Given the description of an element on the screen output the (x, y) to click on. 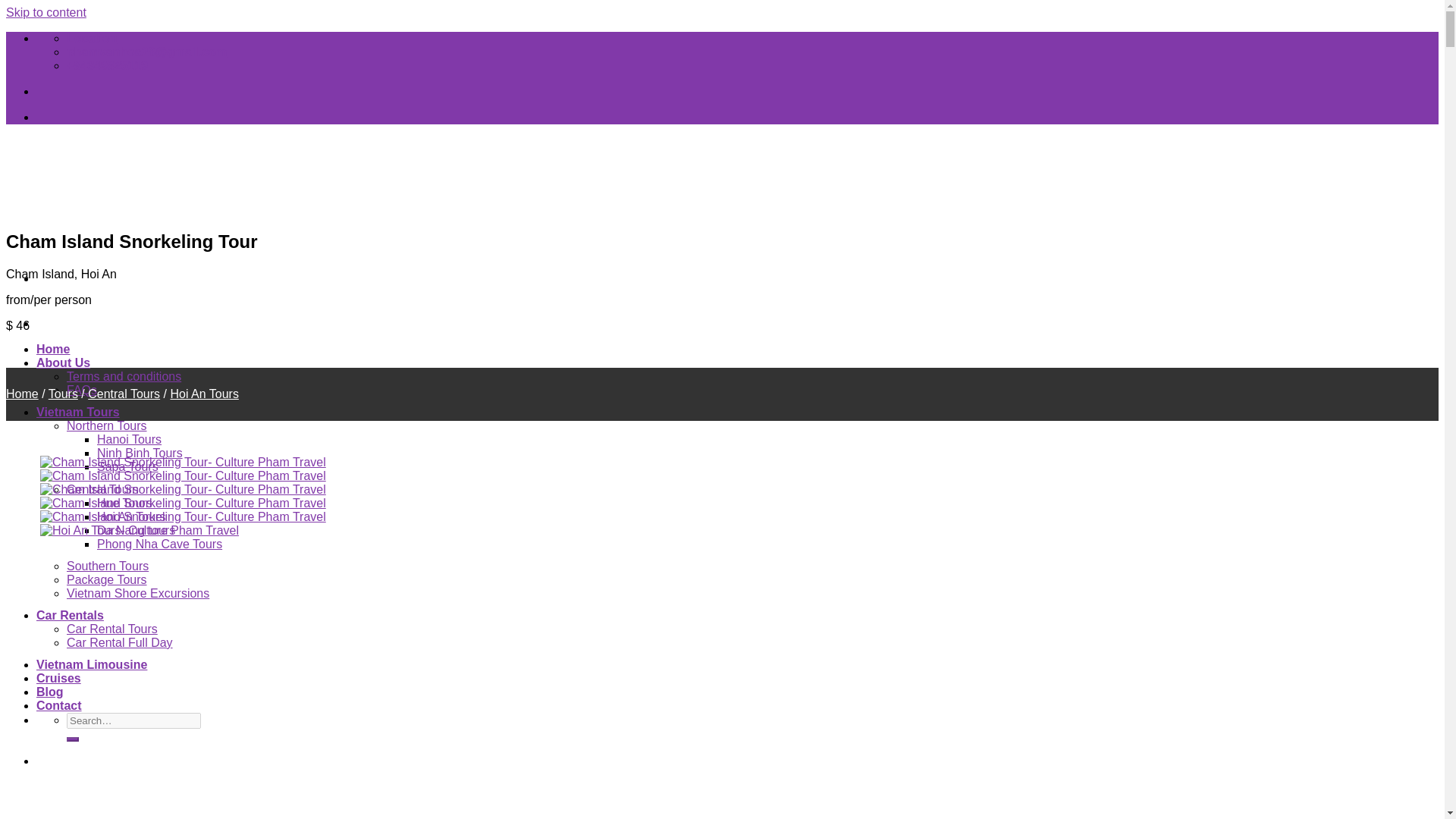
Sapa Tours (127, 466)
Pinterest-share (125, 91)
Facebook-share (41, 116)
Phone-share (108, 91)
Ninh Binh Tours (140, 452)
Skip to content (45, 11)
Linkedin-share (141, 91)
Central Tours (102, 489)
About Us (63, 362)
Facebook-share (41, 91)
Hoi An Tours (131, 516)
Youtube-share (157, 91)
Hue Tours (124, 502)
Twitter-share (74, 116)
Email-share (91, 91)
